Given the description of an element on the screen output the (x, y) to click on. 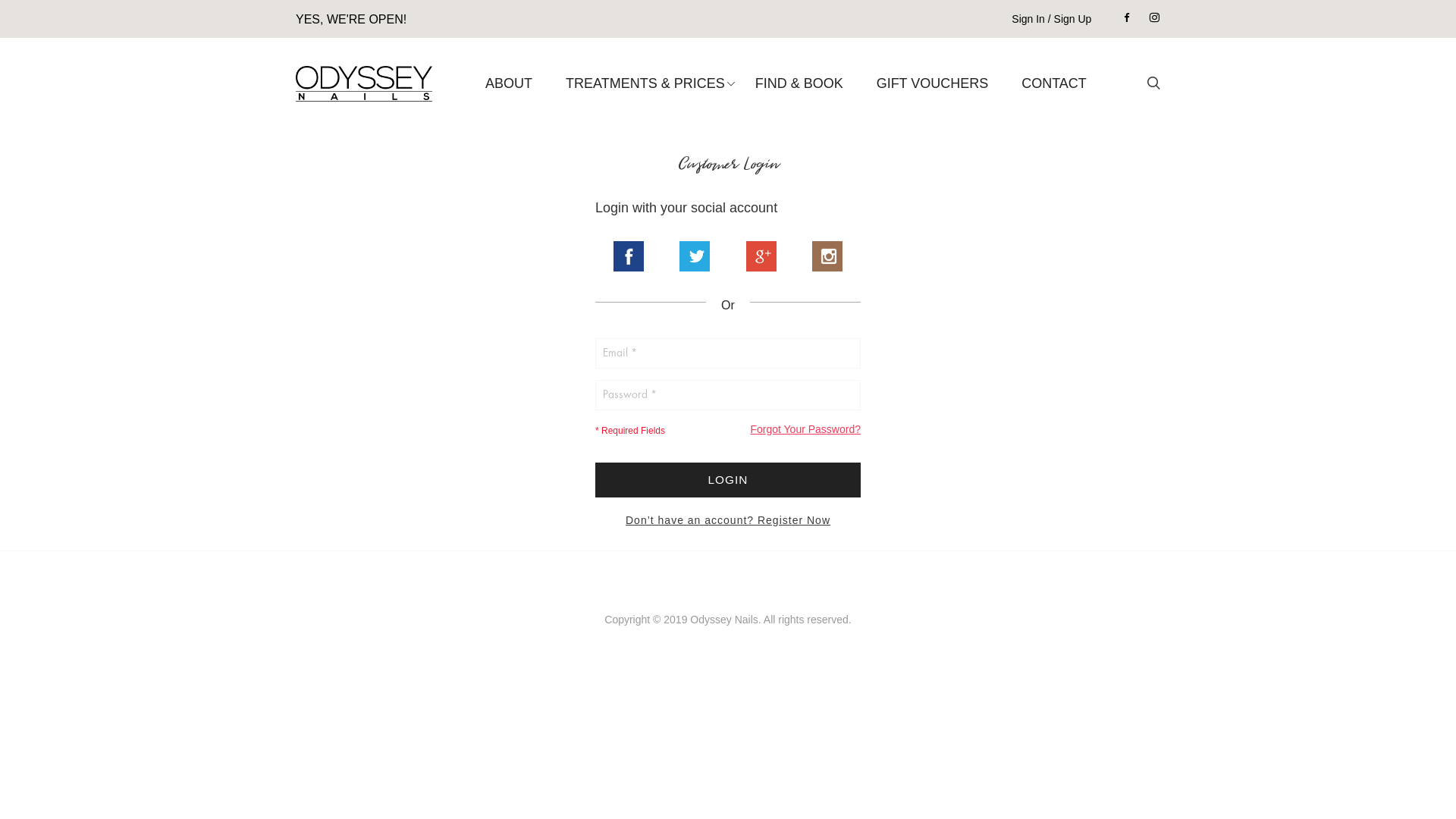
Login with Twitter Element type: hover (694, 256)
Login with Instagram Element type: hover (827, 256)
FIND & BOOK Element type: text (798, 83)
Email Element type: hover (727, 353)
GIFT VOUCHERS Element type: text (932, 83)
LOGIN Element type: text (727, 479)
Login with Google Element type: hover (761, 256)
Login with Facebook Element type: hover (628, 256)
ABOUT Element type: text (508, 83)
Forgot Your Password? Element type: text (804, 428)
TREATMENTS & PRICES Element type: text (645, 83)
CONTACT Element type: text (1053, 83)
Password Element type: hover (727, 394)
